Given the description of an element on the screen output the (x, y) to click on. 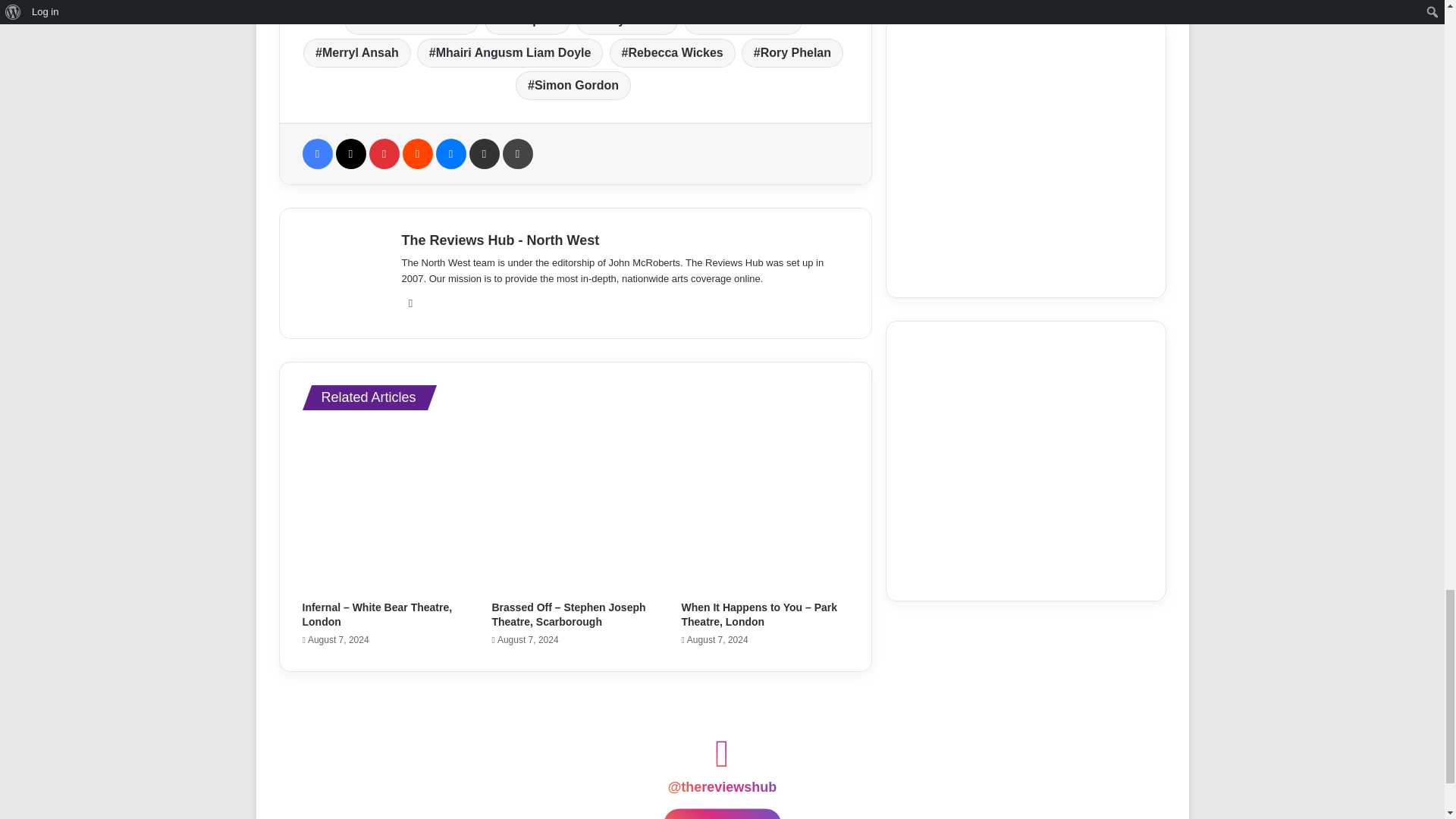
Facebook (316, 153)
Share via Email (483, 153)
Reddit (416, 153)
Pinterest (383, 153)
X (349, 153)
Messenger (450, 153)
